Given the description of an element on the screen output the (x, y) to click on. 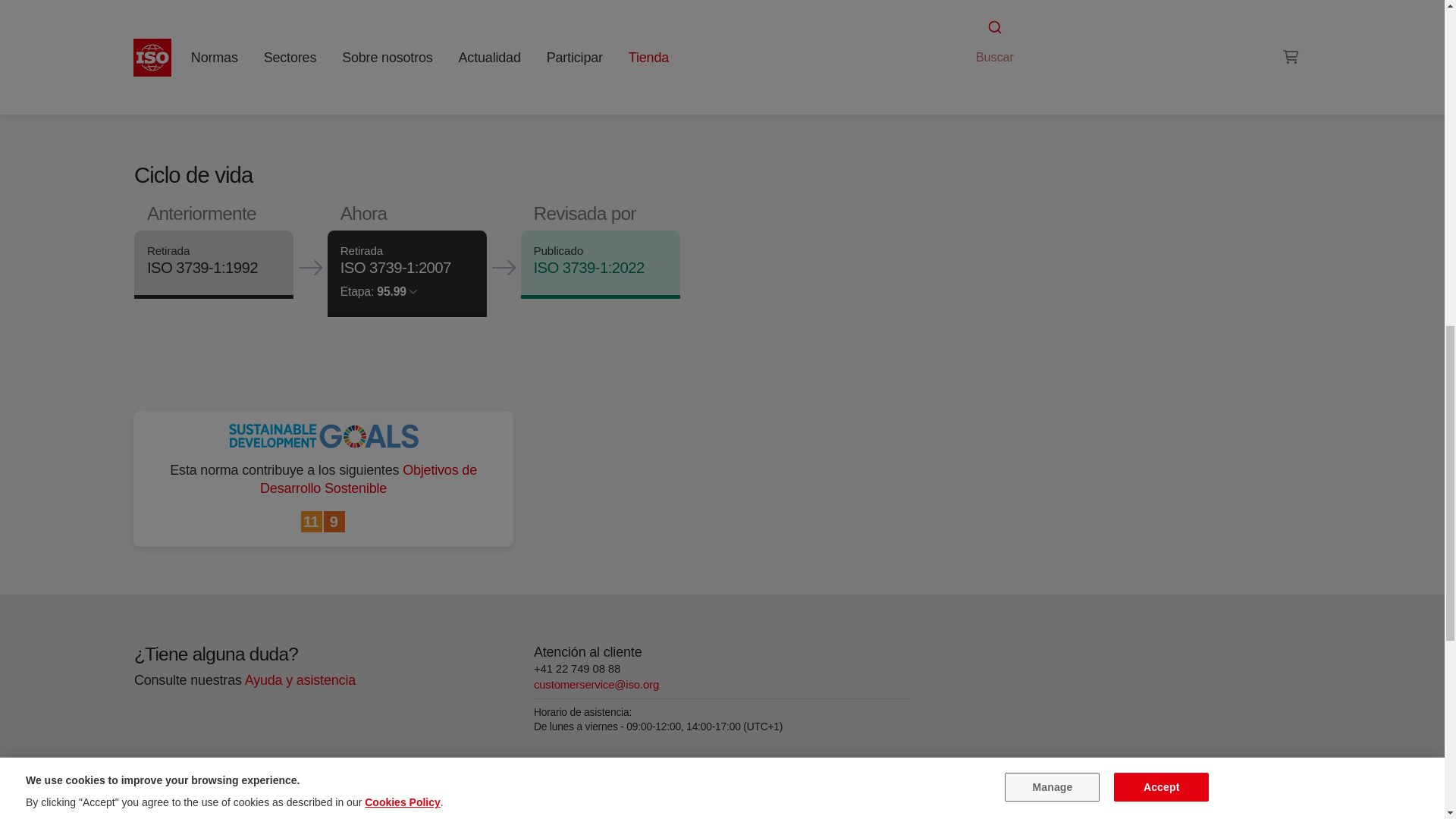
83.160.99 (997, 8)
RSS (956, 38)
Other tyres (997, 8)
Etapa: 95.99 (377, 291)
Sustainable Cities and Communities (312, 522)
Industry, Innovation and Infrastructure (334, 522)
ISO 3739-1:1992 (202, 268)
